Given the description of an element on the screen output the (x, y) to click on. 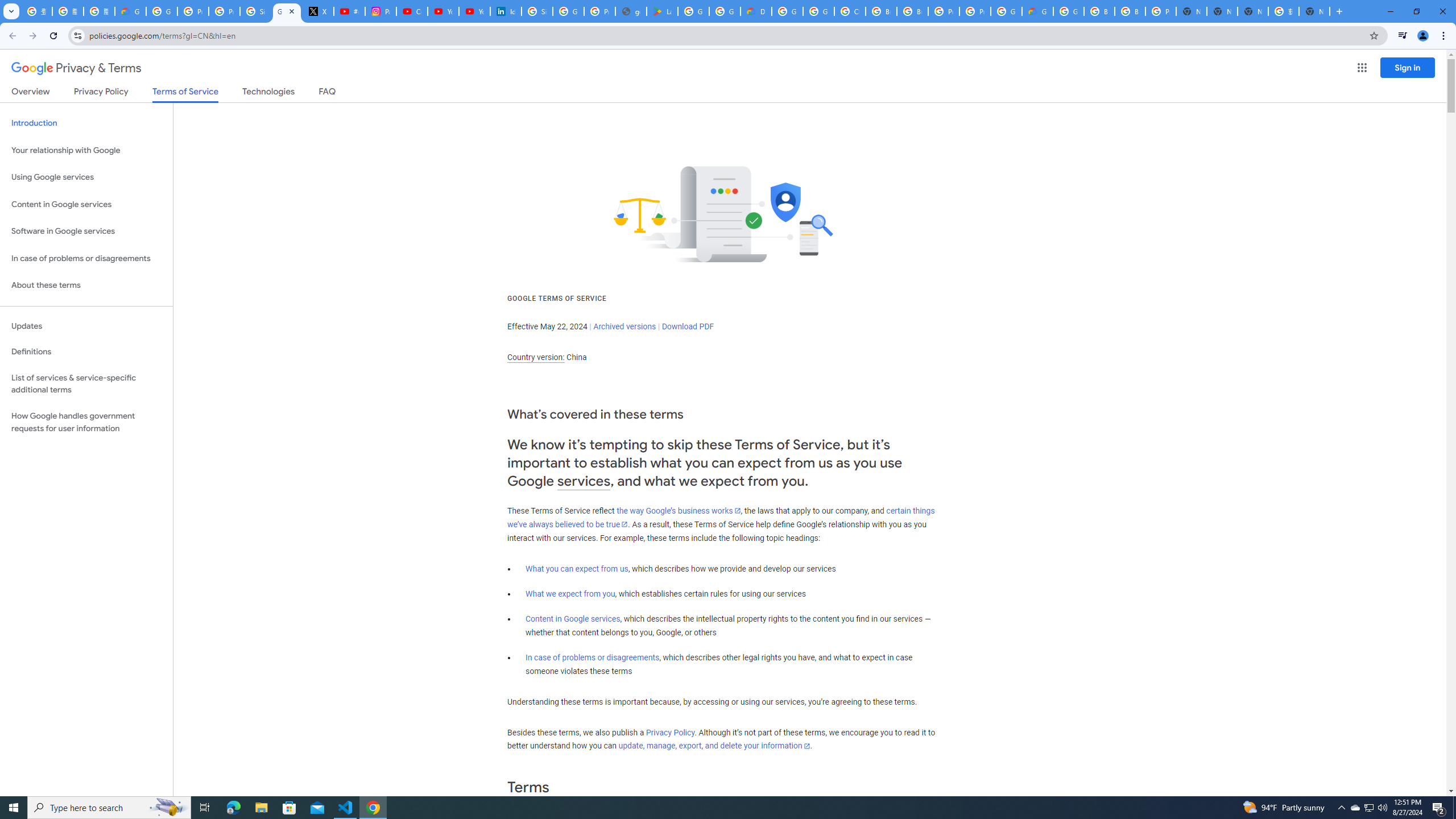
New Tab (1314, 11)
Using Google services (86, 176)
Google Workspace - Specific Terms (724, 11)
List of services & service-specific additional terms (86, 383)
Country version: (535, 357)
Your relationship with Google (86, 150)
Introduction (86, 122)
New Tab (1190, 11)
